Given the description of an element on the screen output the (x, y) to click on. 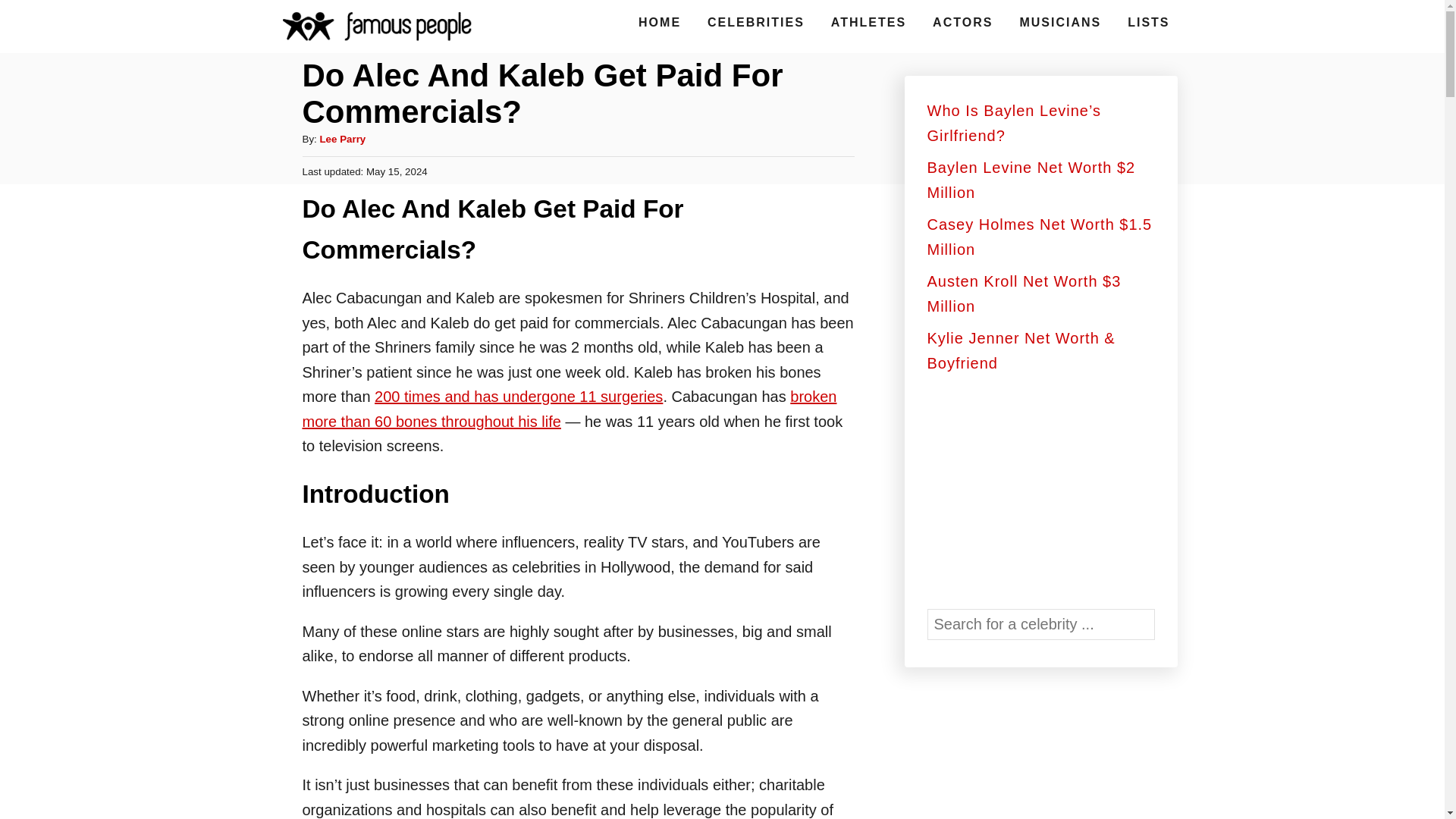
broken more than 60 bones throughout his life (568, 408)
Famous People Today (376, 26)
ATHLETES (869, 22)
MUSICIANS (1059, 22)
ACTORS (962, 22)
Lee Parry (341, 138)
LISTS (1147, 22)
CELEBRITIES (756, 22)
HOME (659, 22)
200 times and has undergone 11 surgeries (518, 396)
